Given the description of an element on the screen output the (x, y) to click on. 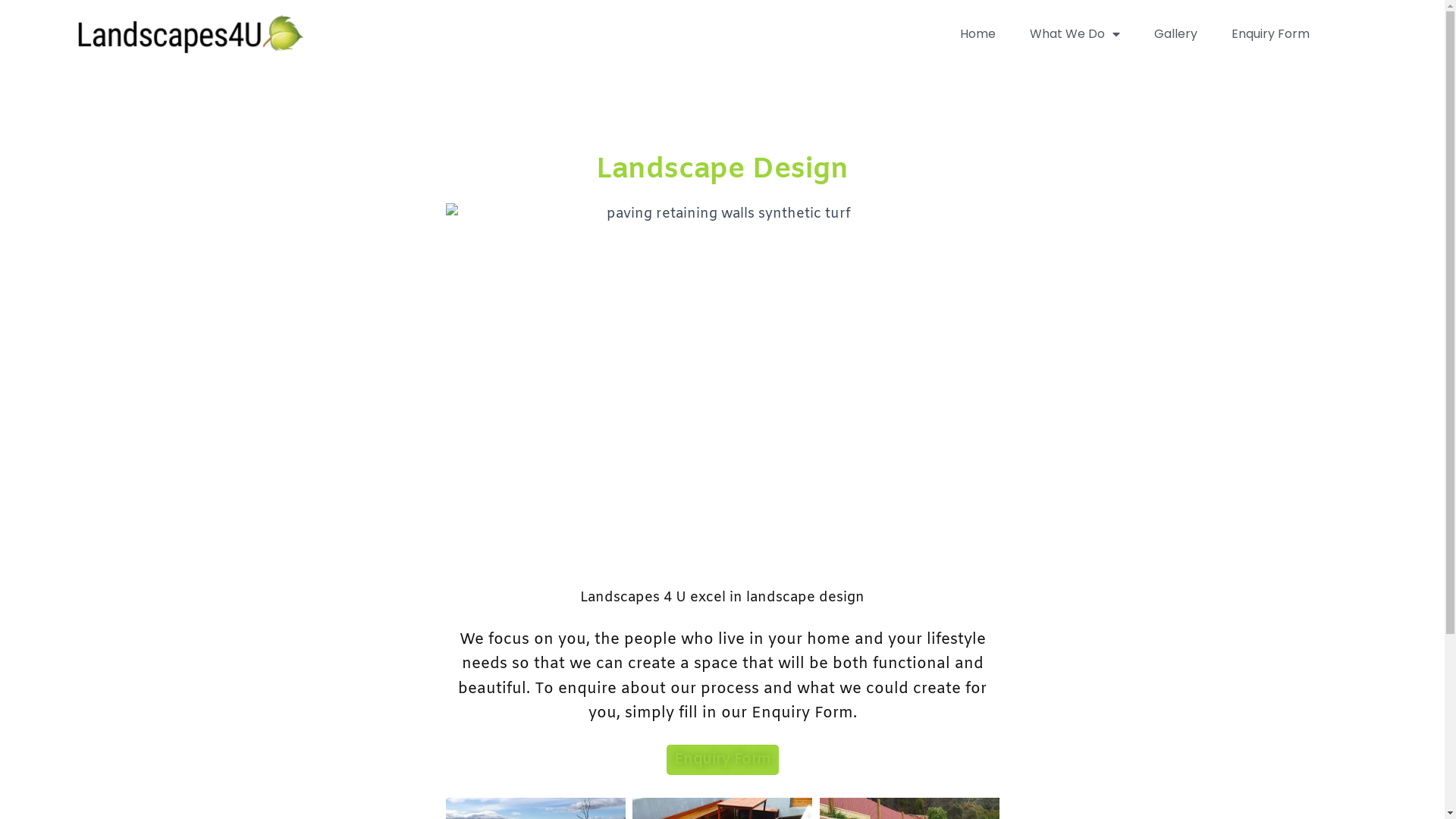
Enquiry Form Element type: text (721, 759)
Gallery Element type: text (1175, 33)
Enquiry Form Element type: text (1270, 33)
Home Element type: text (977, 33)
What We Do Element type: text (1074, 33)
